Given the description of an element on the screen output the (x, y) to click on. 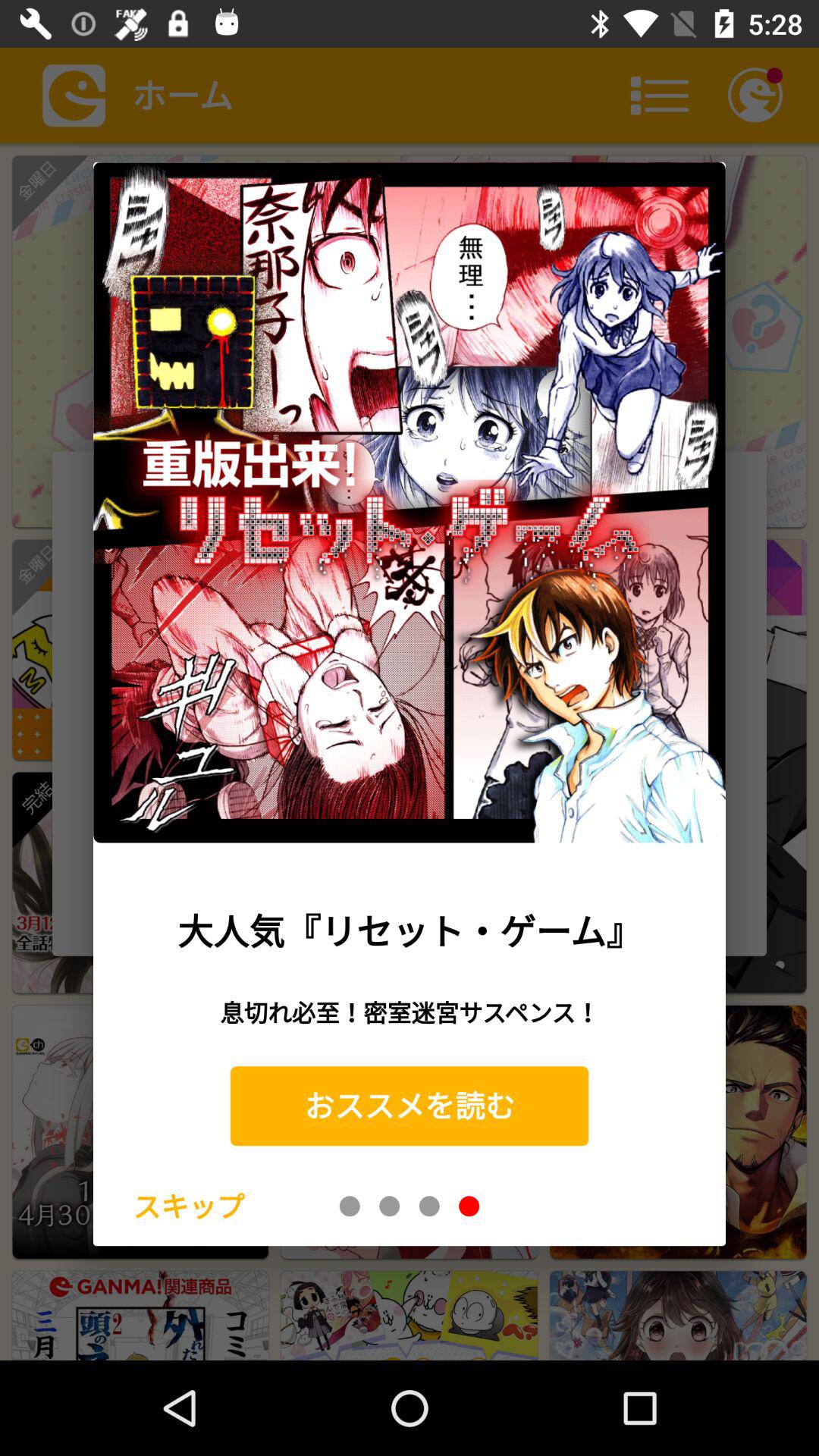
forward to next video (389, 1206)
